Given the description of an element on the screen output the (x, y) to click on. 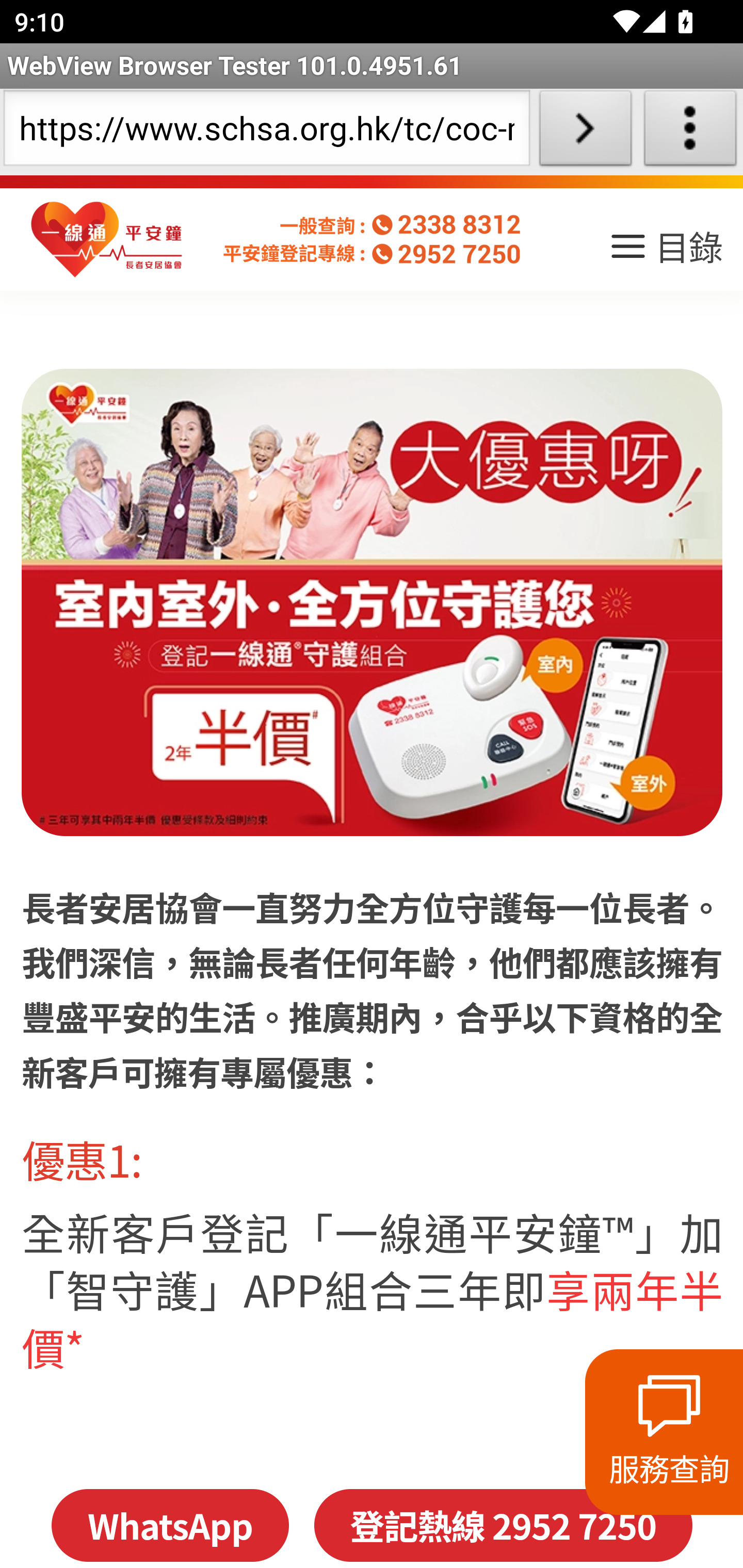
Load URL (585, 132)
About WebView (690, 132)
homepage (107, 240)
目錄 (665, 252)
服務查詢 (664, 1432)
WhatsApp (169, 1525)
登記熱線 2952 7250 (502, 1525)
